Given the description of an element on the screen output the (x, y) to click on. 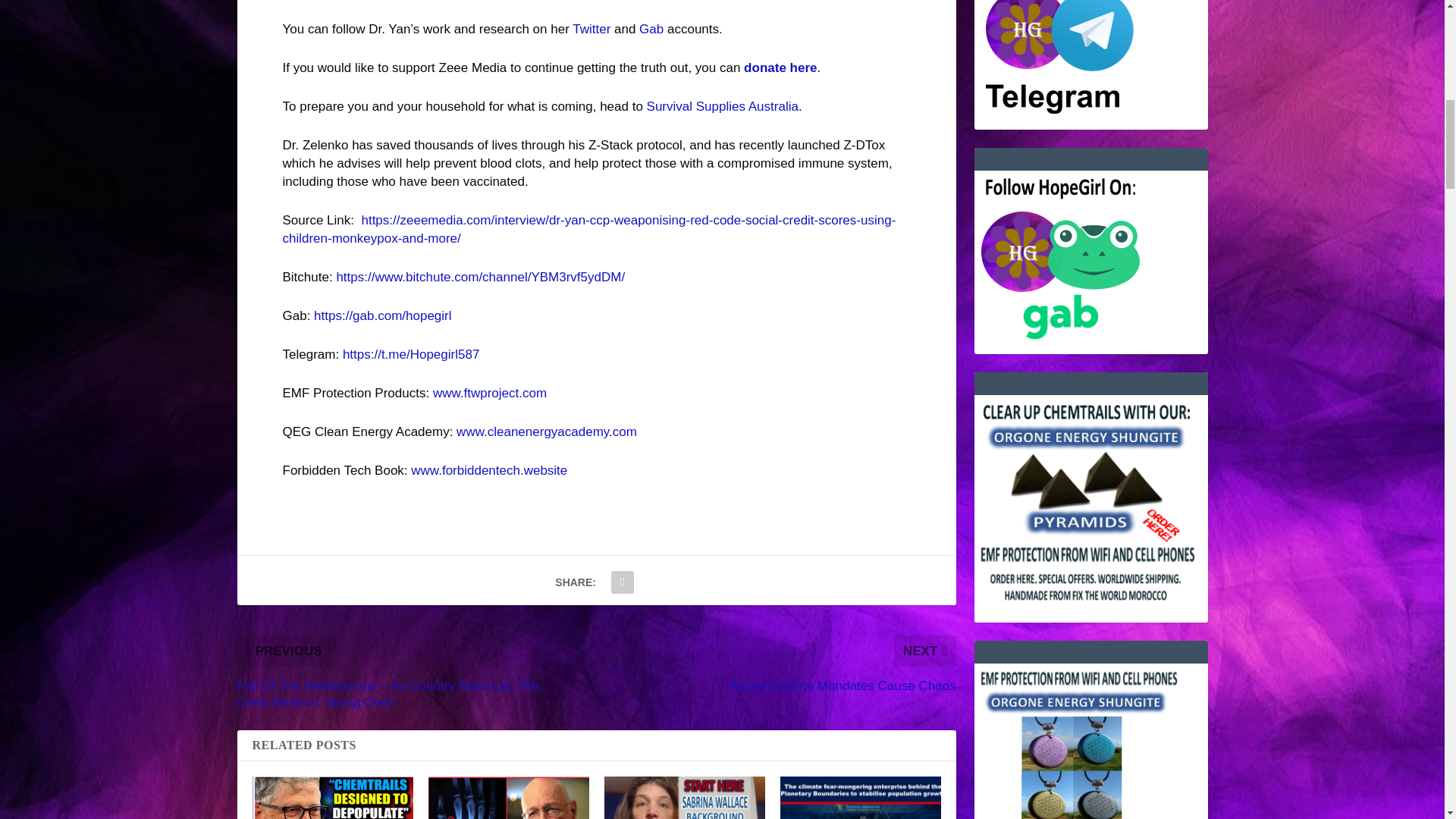
www.ftwproject.com (489, 392)
donate here (780, 67)
www.forbiddentech.website (488, 470)
Twitter (591, 29)
Gab (651, 29)
Survival Supplies Australia (721, 106)
